Given the description of an element on the screen output the (x, y) to click on. 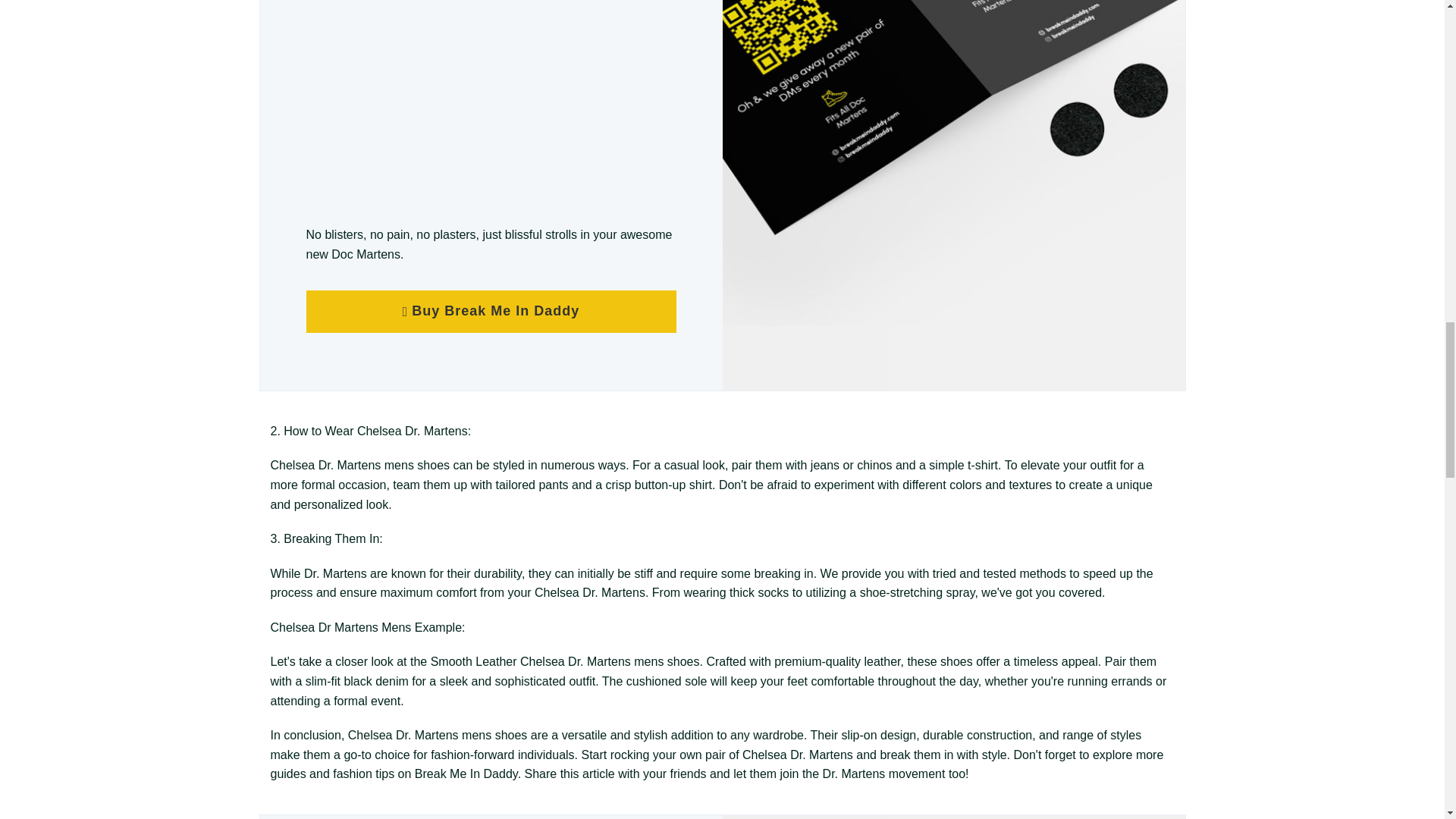
Buy Break Me In Daddy (491, 311)
